Given the description of an element on the screen output the (x, y) to click on. 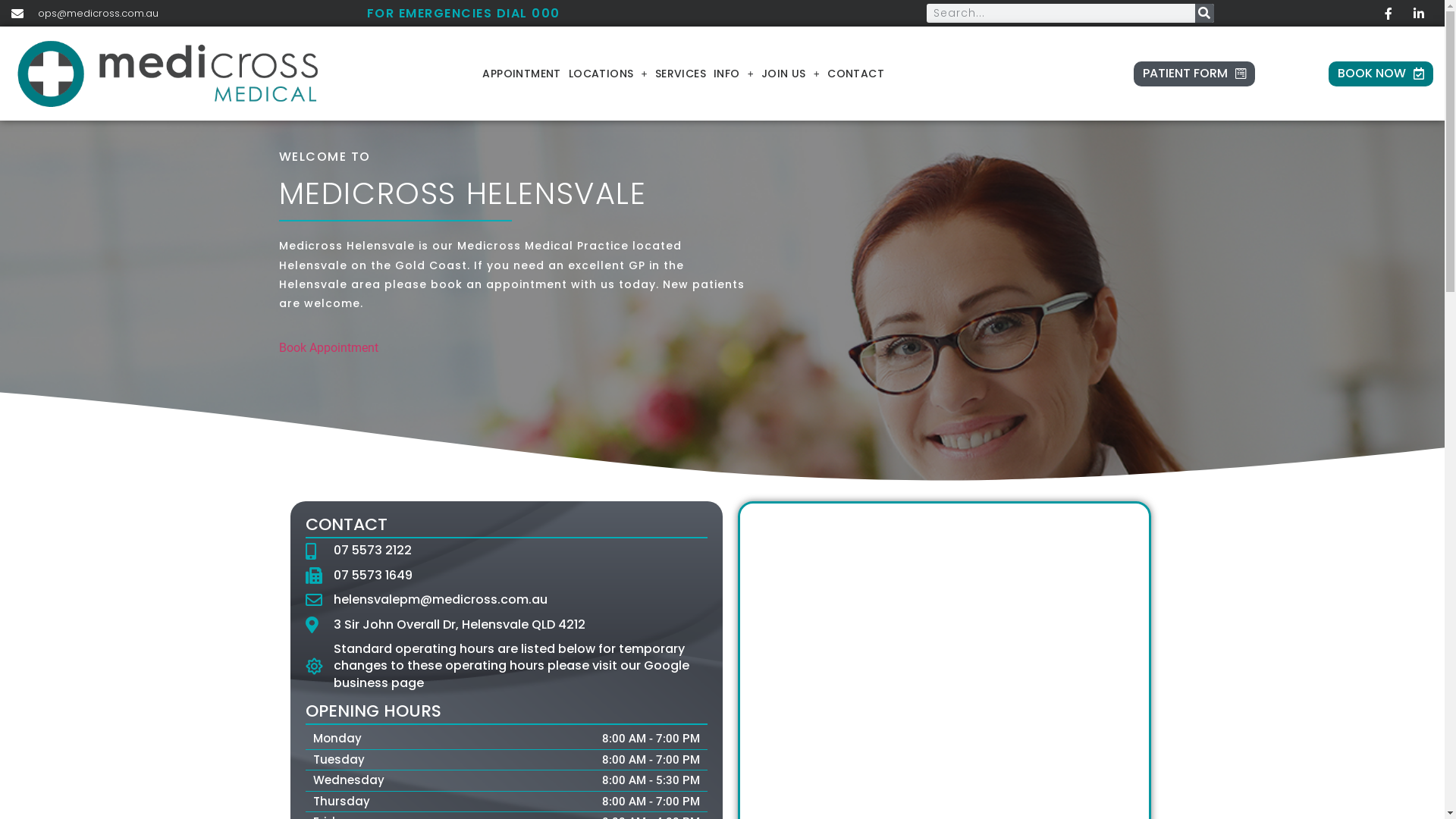
BOOK NOW Element type: text (1380, 73)
INFO Element type: text (733, 73)
CONTACT Element type: text (855, 73)
APPOINTMENT Element type: text (521, 73)
JOIN US Element type: text (790, 73)
07 5573 2122 Element type: text (505, 550)
helensvalepm@medicross.com.au Element type: text (505, 599)
Book Appointment Element type: text (328, 347)
07 5573 1649 Element type: text (505, 575)
SERVICES Element type: text (680, 73)
ops@medicross.com.au Element type: text (84, 13)
3 Sir John Overall Dr, Helensvale QLD 4212 Element type: text (505, 624)
PATIENT FORM Element type: text (1194, 73)
LOCATIONS Element type: text (607, 73)
FOR EMERGENCIES DIAL 000 Element type: text (463, 12)
